Given the description of an element on the screen output the (x, y) to click on. 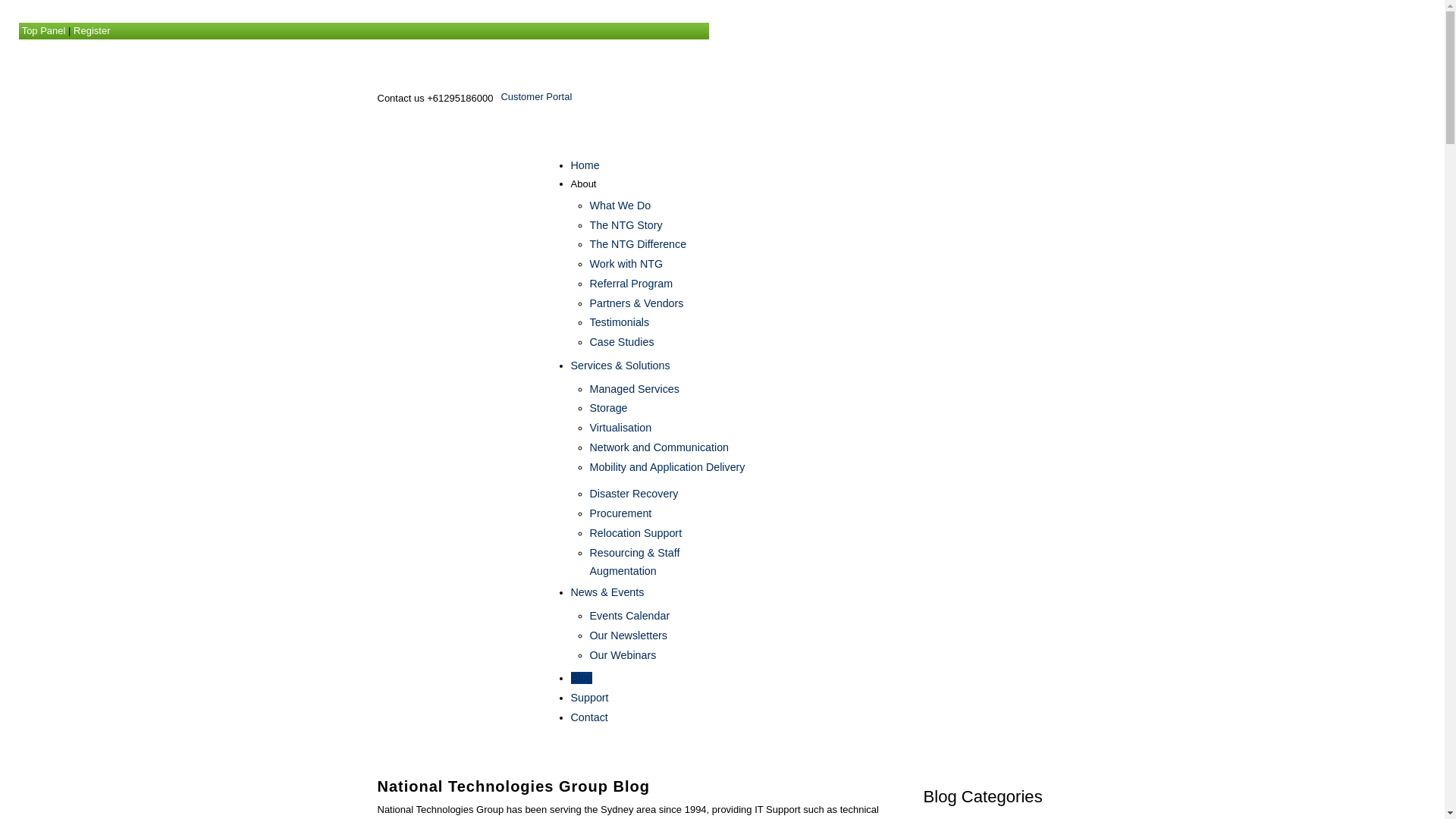
Testimonials Element type: text (619, 322)
Our Newsletters Element type: text (628, 635)
News & Events Element type: text (606, 592)
Case Studies Element type: text (621, 341)
Support Element type: text (589, 697)
Events Calendar Element type: text (629, 615)
Contact Element type: text (588, 717)
The NTG Difference Element type: text (638, 244)
Register Element type: text (91, 30)
Work with NTG Element type: text (626, 263)
Our Webinars Element type: text (622, 655)
Virtualisation Element type: text (620, 427)
What We Do Element type: text (620, 205)
Storage Element type: text (608, 407)
Resourcing & Staff Augmentation Element type: text (634, 561)
Referral Program Element type: text (631, 283)
Blog Element type: text (581, 677)
Mobility and Application Delivery Element type: text (667, 467)
Home Element type: text (584, 165)
Managed Services Element type: text (634, 388)
The NTG Story Element type: text (625, 225)
Partners & Vendors Element type: text (636, 303)
Disaster Recovery Element type: text (633, 493)
Customer Portal Element type: text (535, 96)
Top Panel Element type: text (43, 30)
Relocation Support Element type: text (635, 533)
Network and Communication Element type: text (659, 447)
Procurement Element type: text (620, 513)
Services & Solutions Element type: text (619, 365)
